Given the description of an element on the screen output the (x, y) to click on. 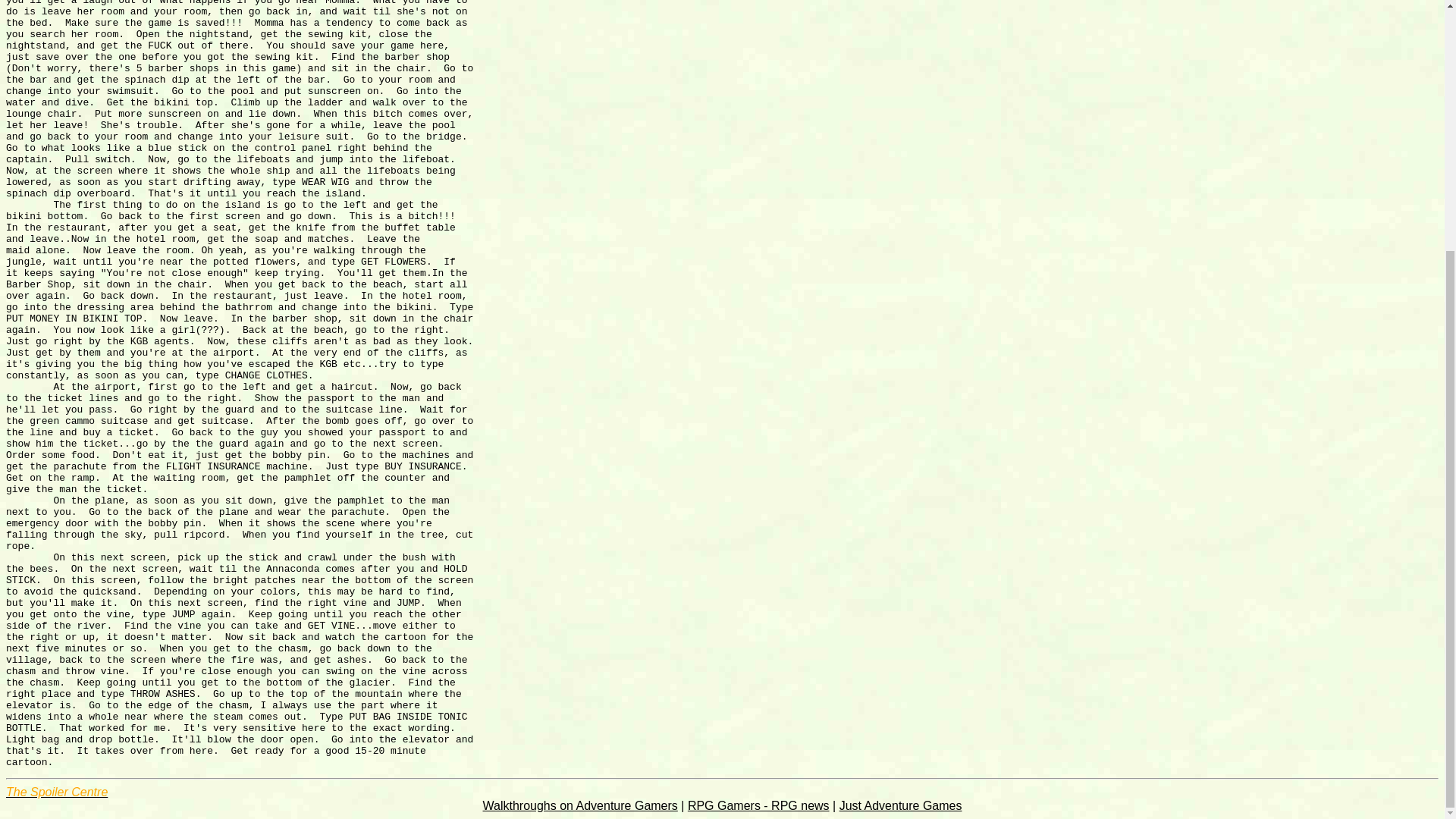
The Spoiler Centre (56, 791)
RPG Gamers - RPG news (758, 805)
Walkthroughs on Adventure Gamers (580, 805)
Just Adventure Games (901, 805)
